Given the description of an element on the screen output the (x, y) to click on. 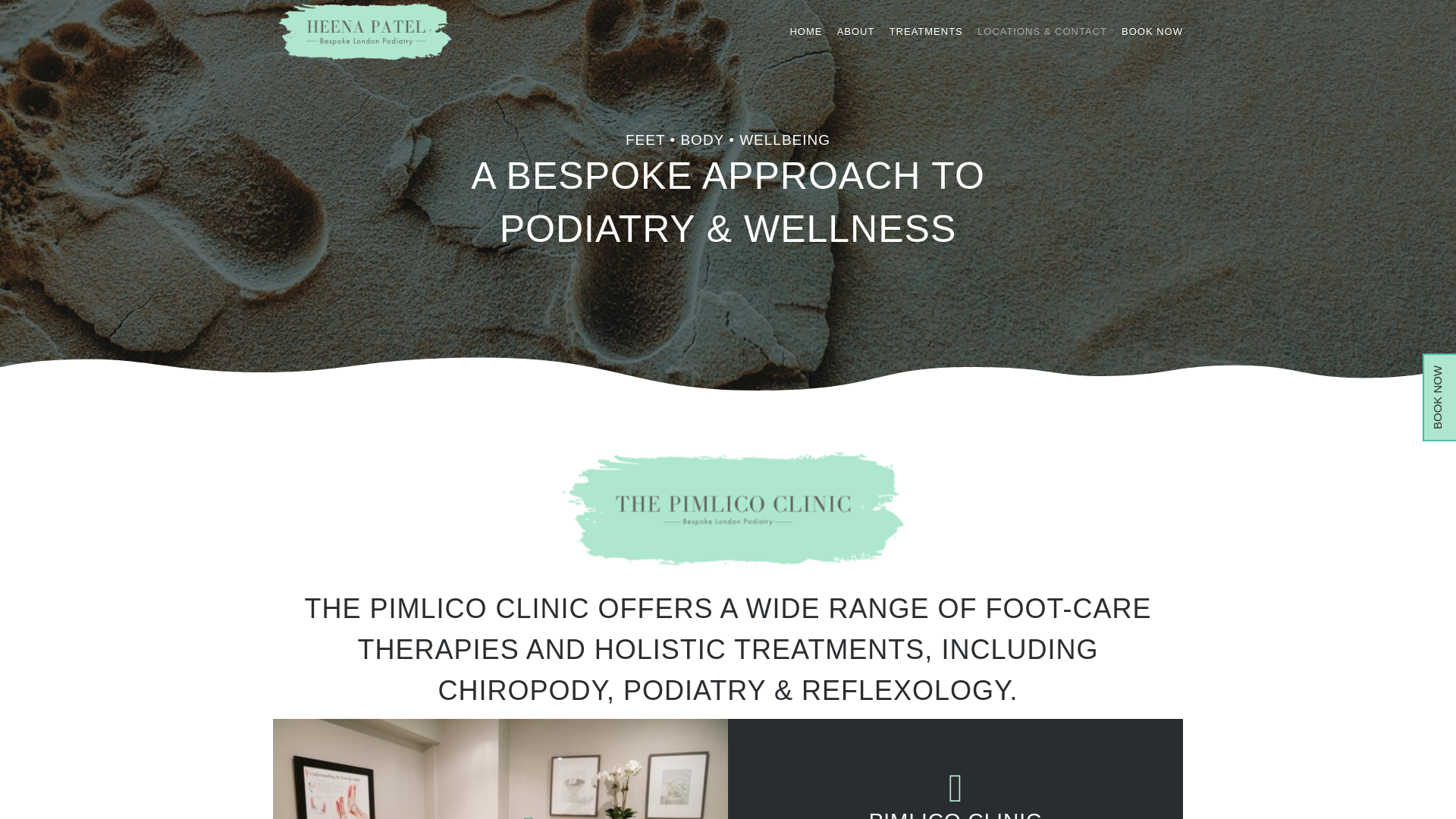
thepimlicoclinic (728, 508)
BOOK NOW (1151, 44)
TREATMENTS (925, 44)
ABOUT (856, 44)
